Given the description of an element on the screen output the (x, y) to click on. 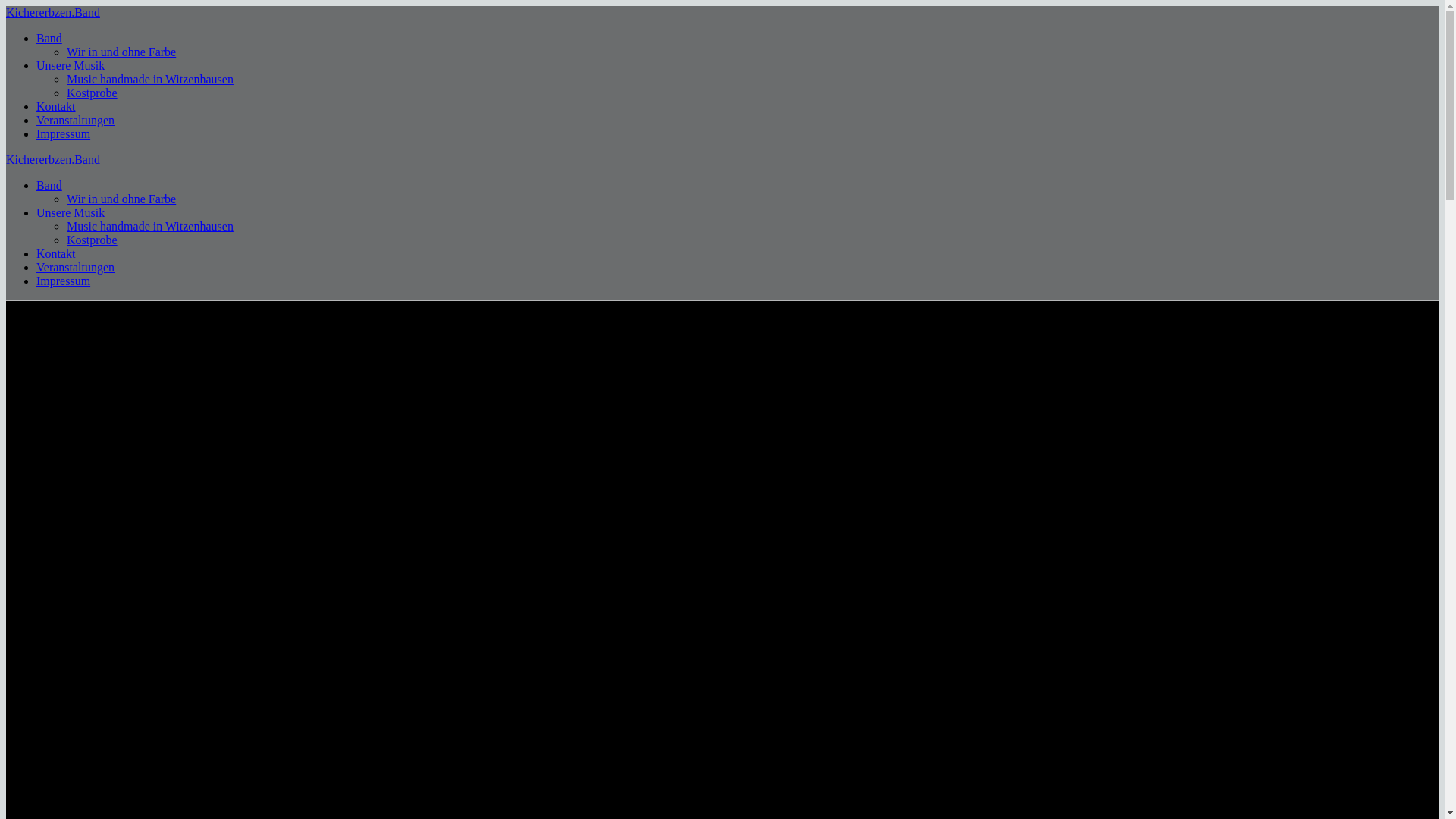
Kontakt Element type: text (55, 253)
Band Element type: text (49, 184)
Kontakt Element type: text (55, 106)
Wir in und ohne Farbe Element type: text (120, 51)
Impressum Element type: text (63, 133)
Zum Inhalt springen Element type: text (5, 5)
Veranstaltungen Element type: text (75, 266)
Music handmade in Witzenhausen Element type: text (149, 225)
Impressum Element type: text (63, 280)
Kichererbzen.Band Element type: text (53, 159)
Veranstaltungen Element type: text (75, 119)
Unsere Musik Element type: text (70, 212)
Kostprobe Element type: text (91, 239)
Kichererbzen.Band Element type: text (53, 12)
Unsere Musik Element type: text (70, 65)
Music handmade in Witzenhausen Element type: text (149, 78)
Kostprobe Element type: text (91, 92)
Band Element type: text (49, 37)
Wir in und ohne Farbe Element type: text (120, 198)
